Given the description of an element on the screen output the (x, y) to click on. 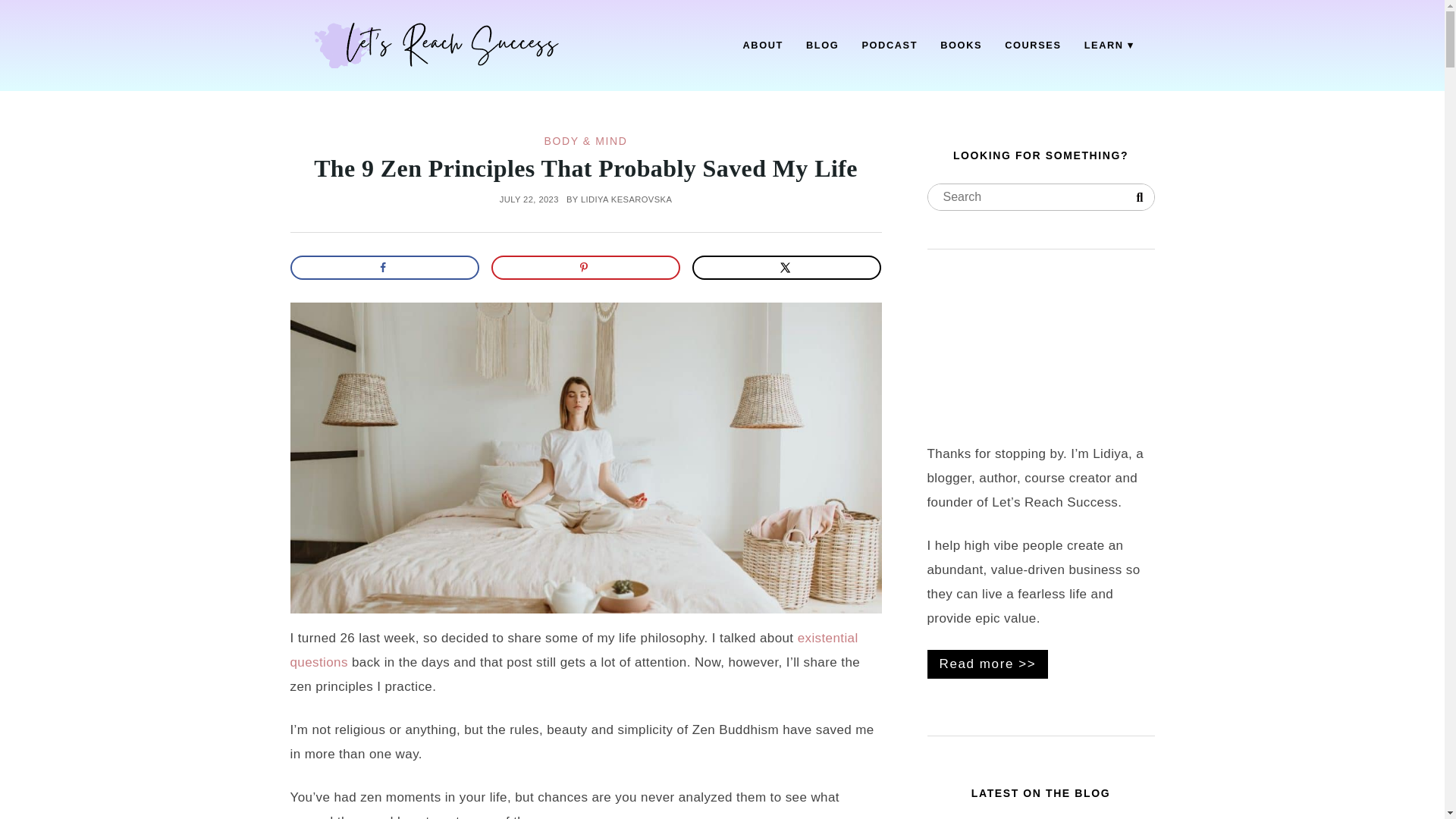
BOOKS (960, 45)
COURSES (1032, 45)
Save to Pinterest (586, 267)
Share on X (787, 267)
LEARN (1109, 45)
The 9 Zen Principles That Probably Saved My Life (585, 167)
ABOUT (763, 45)
PODCAST (889, 45)
existential questions (573, 649)
BLOG (822, 45)
Share on Facebook (384, 267)
The 9 Zen Principles That Probably Saved My Life (585, 167)
